Given the description of an element on the screen output the (x, y) to click on. 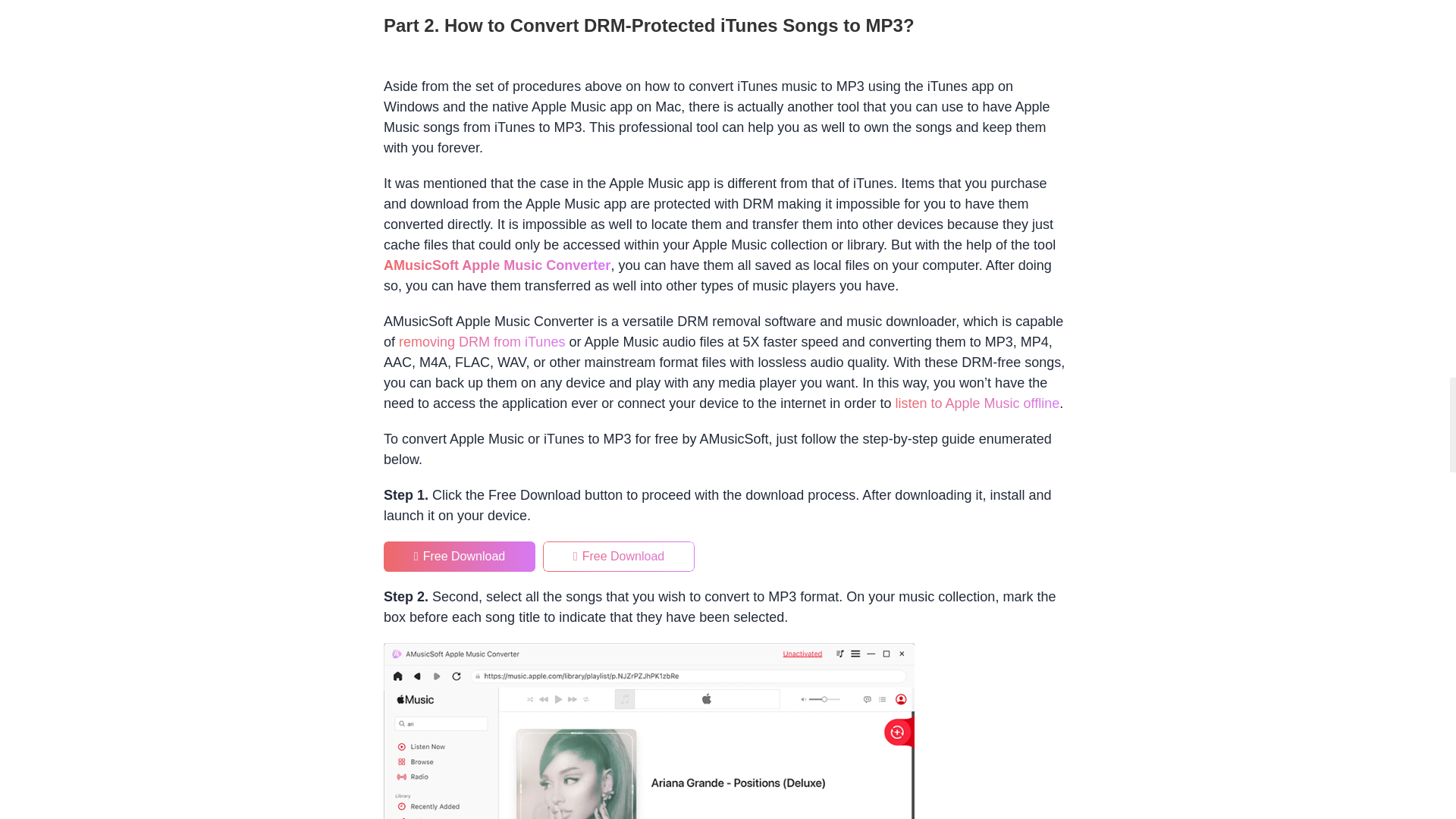
Free Download (618, 556)
removing DRM from iTunes (481, 341)
AMusicSoft Apple Music Converter (497, 264)
How To Remove DRM From iTunes Music (481, 341)
Free Download (459, 556)
Free Download (618, 556)
Can I Listen to Apple Music Offline? (977, 403)
listen to Apple Music offline (977, 403)
AMusicSoft Apple Music Converter (497, 264)
Free Download (459, 556)
